Given the description of an element on the screen output the (x, y) to click on. 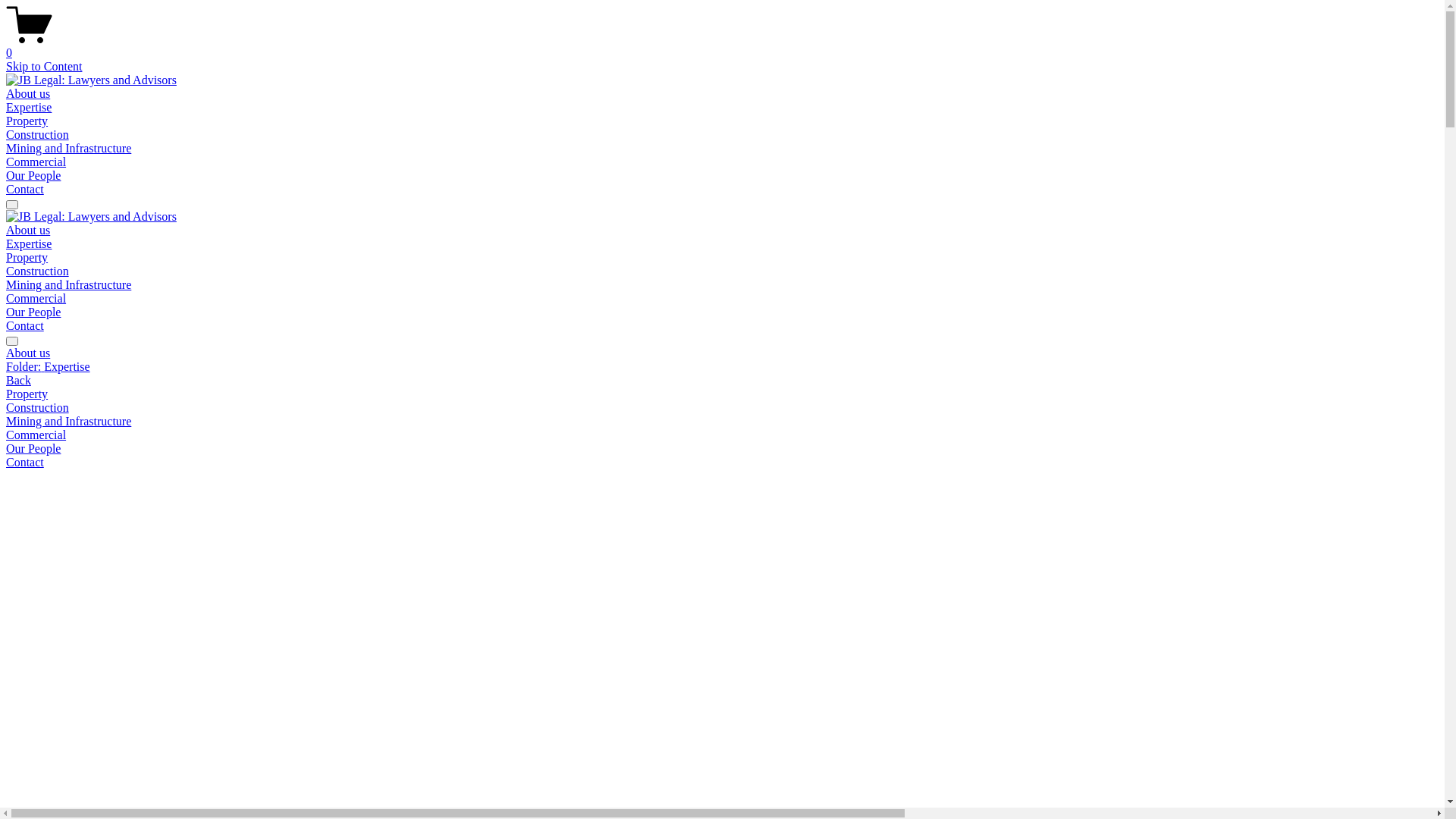
0 Element type: text (722, 45)
Construction Element type: text (37, 270)
Contact Element type: text (24, 325)
Property Element type: text (26, 120)
Skip to Content Element type: text (43, 65)
Property Element type: text (722, 394)
Mining and Infrastructure Element type: text (722, 421)
Our People Element type: text (722, 448)
Contact Element type: text (24, 188)
Mining and Infrastructure Element type: text (68, 147)
Folder: Expertise Element type: text (722, 366)
Mining and Infrastructure Element type: text (68, 284)
Construction Element type: text (37, 134)
Property Element type: text (26, 257)
Commercial Element type: text (35, 297)
Expertise Element type: text (28, 243)
Expertise Element type: text (28, 106)
Commercial Element type: text (722, 435)
About us Element type: text (722, 353)
Our People Element type: text (33, 311)
Back Element type: text (18, 379)
About us Element type: text (28, 93)
Contact Element type: text (722, 462)
About us Element type: text (28, 229)
Our People Element type: text (33, 175)
Commercial Element type: text (35, 161)
Construction Element type: text (722, 407)
